Given the description of an element on the screen output the (x, y) to click on. 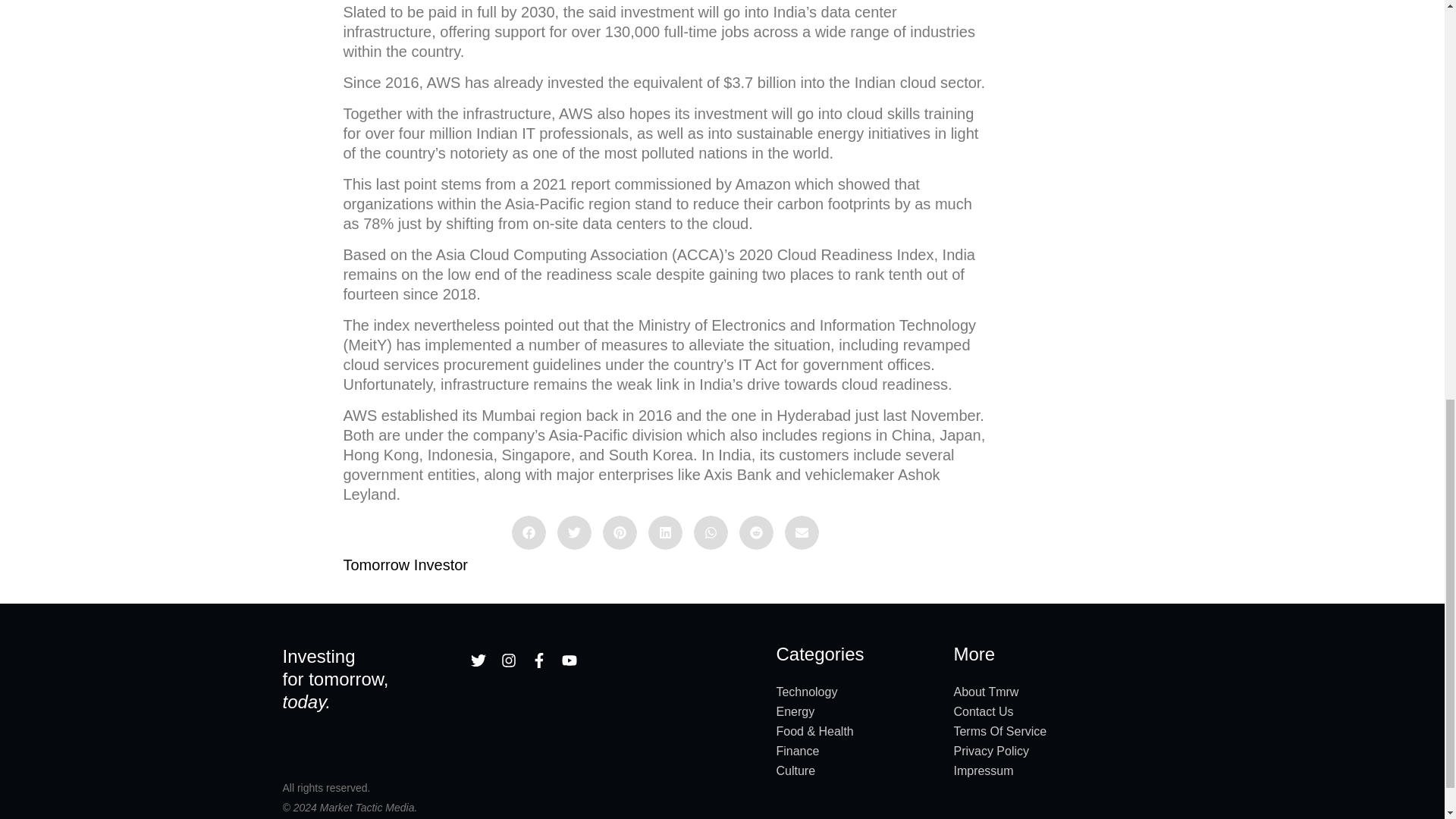
Contact Us (1057, 711)
Impressum (1057, 771)
Culture (856, 771)
Finance (856, 751)
Terms Of Service (1057, 731)
Energy (856, 711)
Privacy Policy (1057, 751)
About Tmrw (1057, 691)
Technology (856, 691)
